Given the description of an element on the screen output the (x, y) to click on. 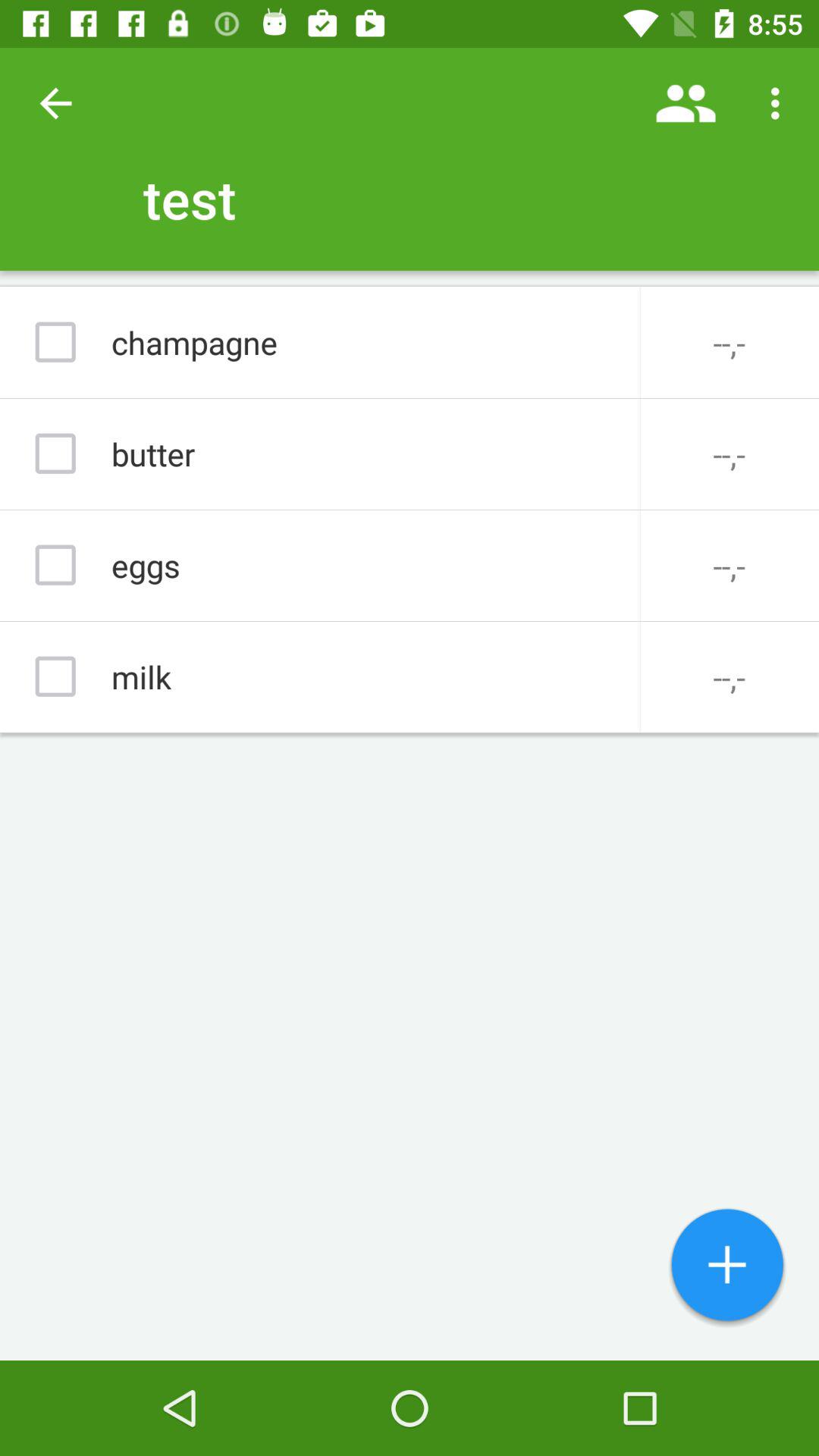
tap icon to the right of test (685, 103)
